Given the description of an element on the screen output the (x, y) to click on. 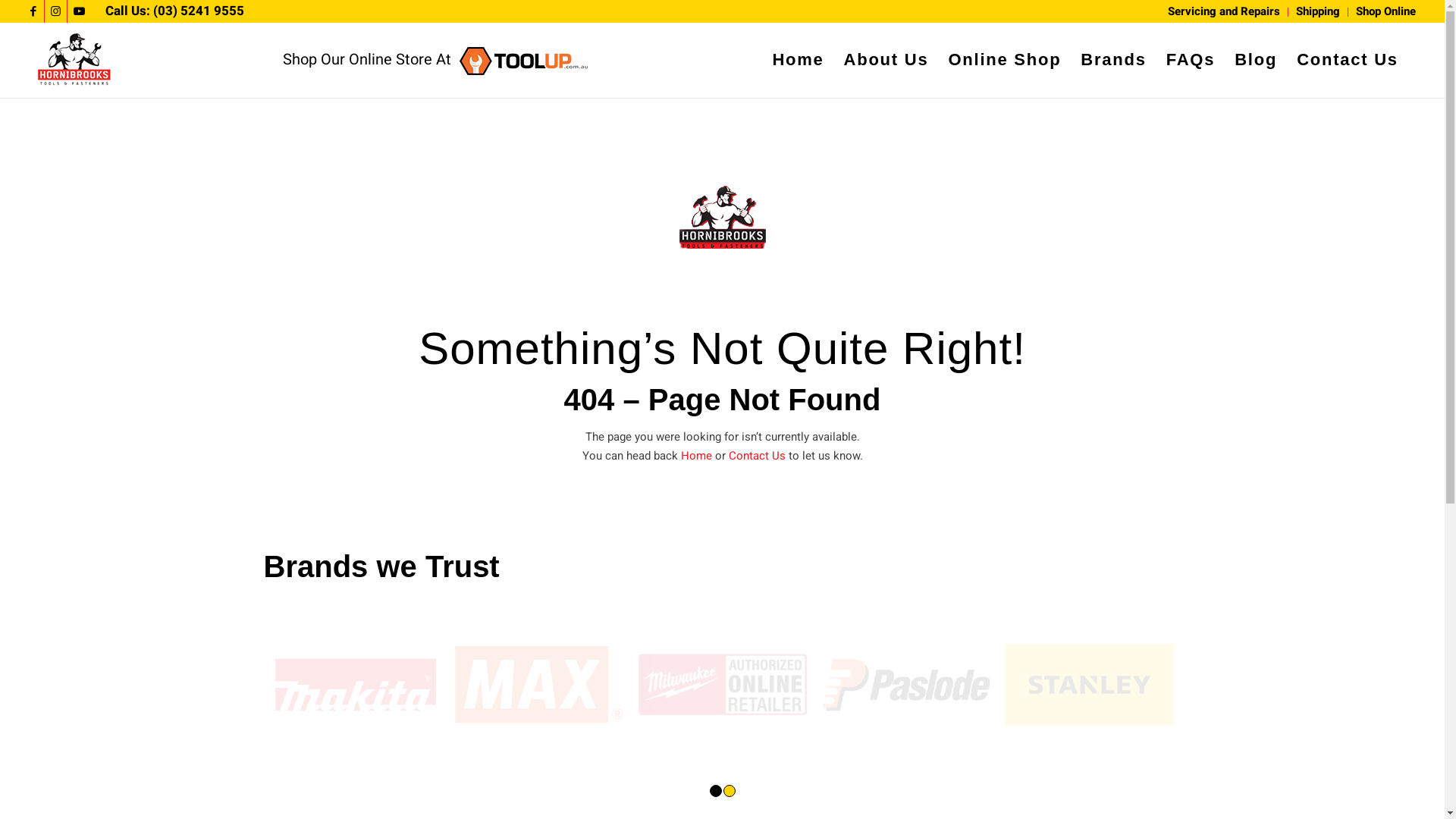
(03) 5241 9555 Element type: text (198, 10)
Contact Us Element type: text (756, 455)
Home Element type: text (797, 59)
Blog Element type: text (1255, 59)
Instagram Element type: hover (55, 11)
1 Element type: text (715, 790)
Brands Element type: text (1112, 59)
Youtube Element type: hover (78, 11)
FAQs Element type: text (1190, 59)
About Us Element type: text (886, 59)
Online Shop Element type: text (1004, 59)
2 Element type: text (729, 790)
Contact Us Element type: text (1347, 59)
Facebook Element type: hover (32, 11)
Home  Element type: text (697, 455)
